Given the description of an element on the screen output the (x, y) to click on. 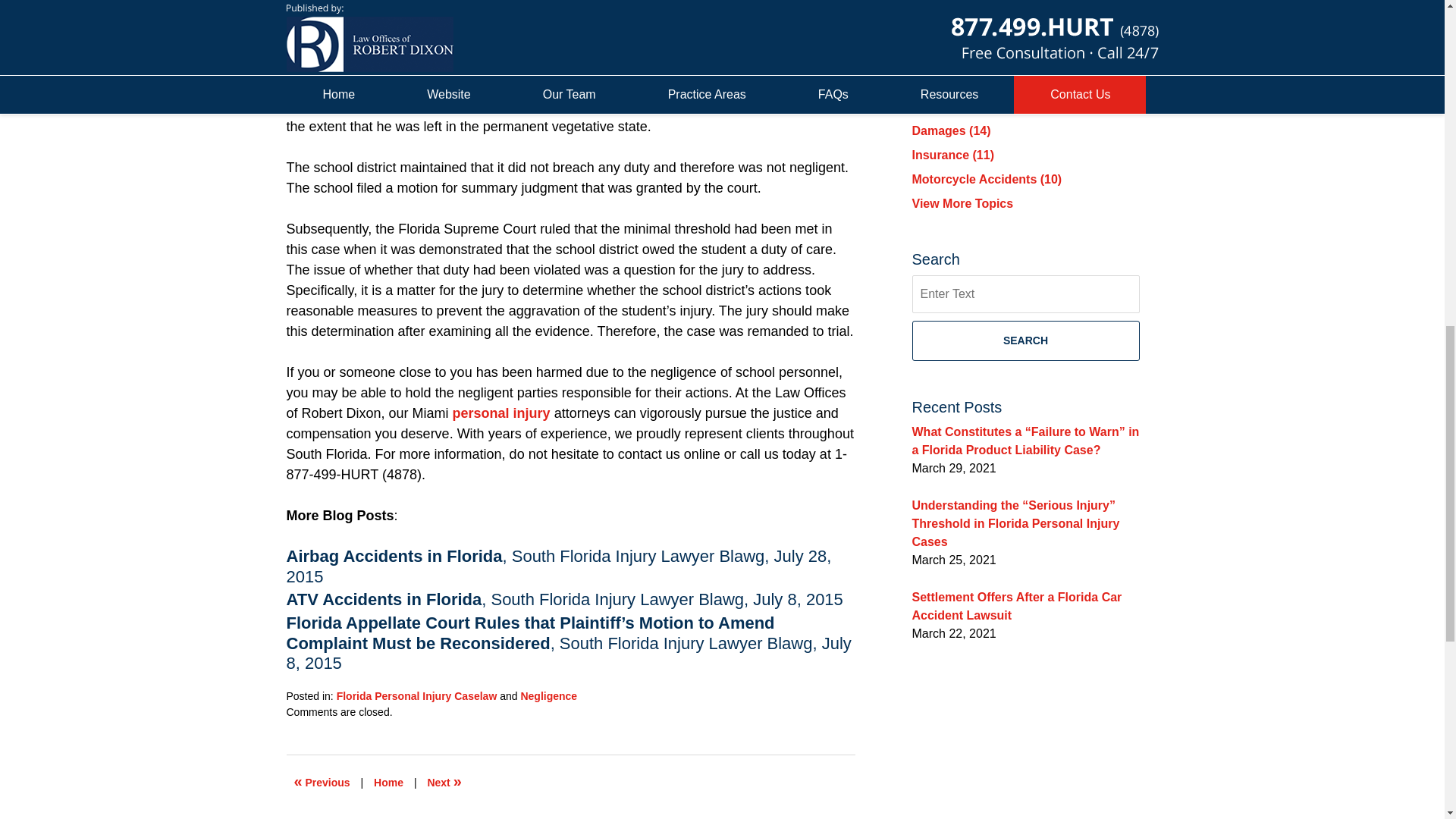
Elevator and Escalator Accidents in Florida (322, 782)
Florida Personal Injury Caselaw (416, 695)
Home (388, 782)
Negligence (547, 695)
ATV Accidents in Florida (383, 599)
Falling Merchandise Injuries in Florida (443, 782)
personal injury (501, 412)
Airbag Accidents in Florida (394, 556)
View all posts in Florida Personal Injury Caselaw (416, 695)
View all posts in Negligence (547, 695)
